Given the description of an element on the screen output the (x, y) to click on. 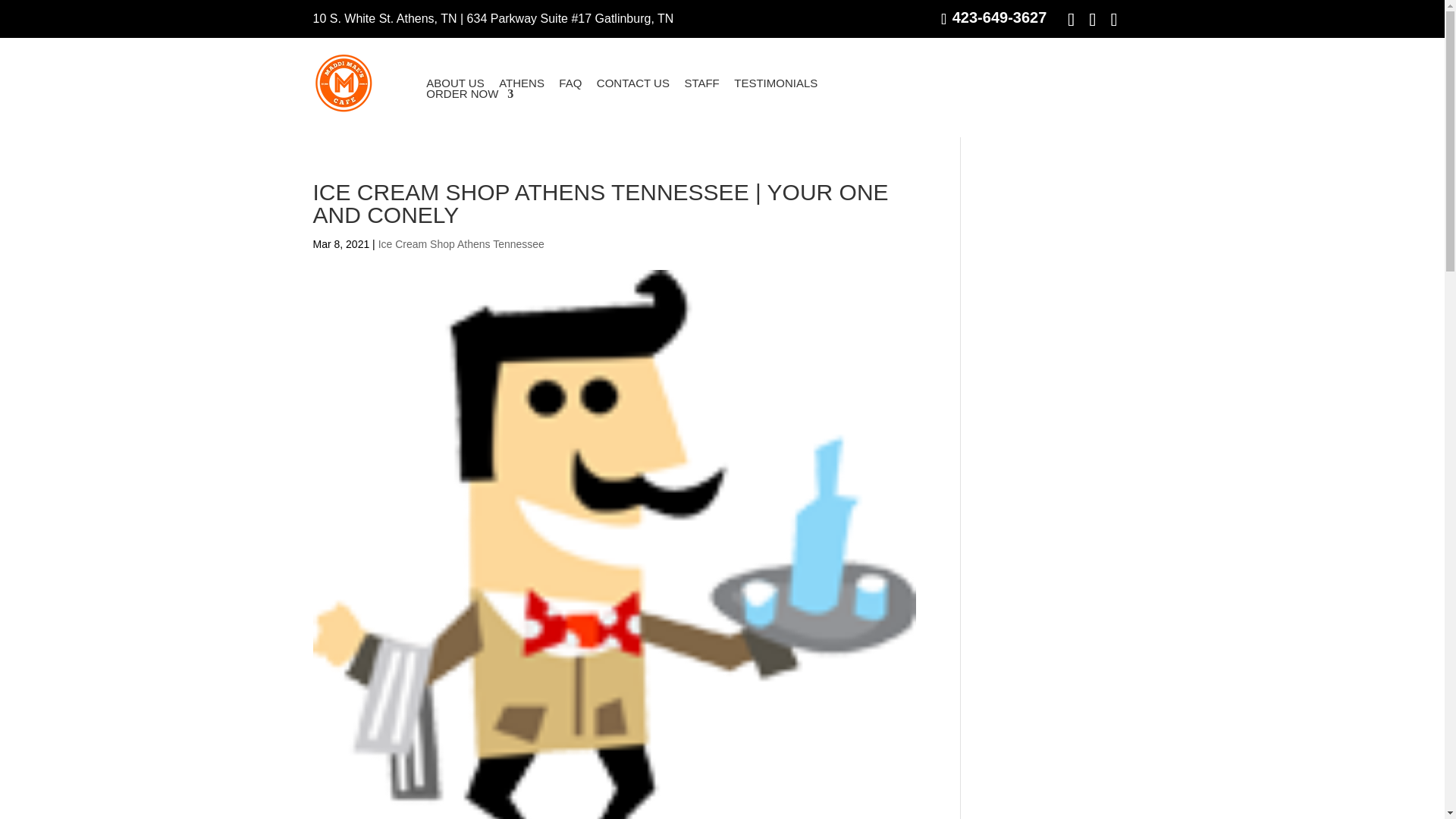
ATHENS (521, 82)
ABOUT US (454, 82)
CONTACT US (632, 82)
ORDER NOW (469, 93)
FAQ (569, 82)
Ice Cream Shop Athens Tennessee (461, 244)
STAFF (701, 82)
423-649-3627 (993, 17)
TESTIMONIALS (774, 82)
